Given the description of an element on the screen output the (x, y) to click on. 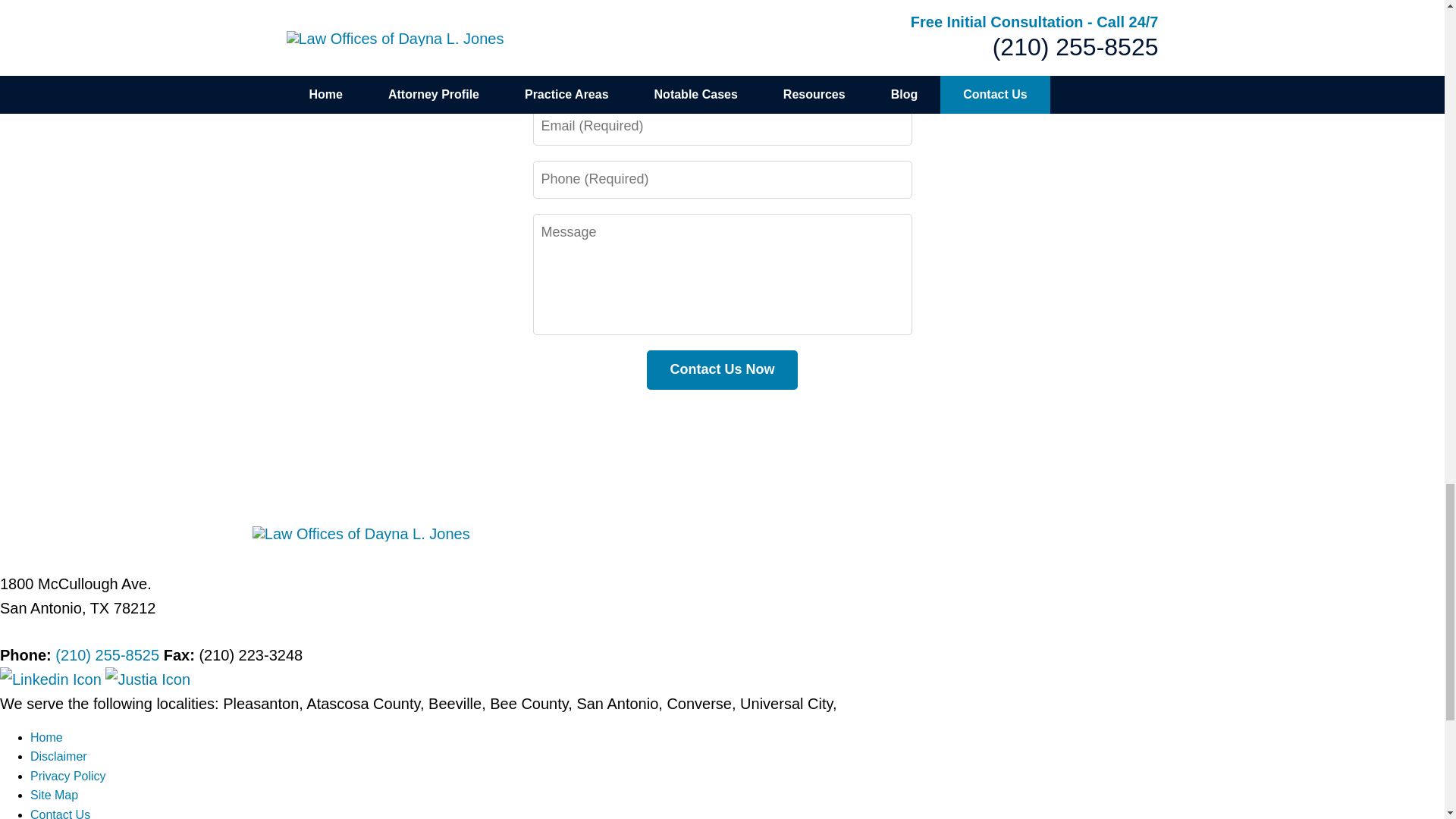
Contact Us Now (721, 369)
Contact Us (60, 813)
Disclaimer (58, 756)
Site Map (54, 794)
Home (46, 737)
Linkedin (52, 678)
Justia (147, 678)
Privacy Policy (68, 775)
